Given the description of an element on the screen output the (x, y) to click on. 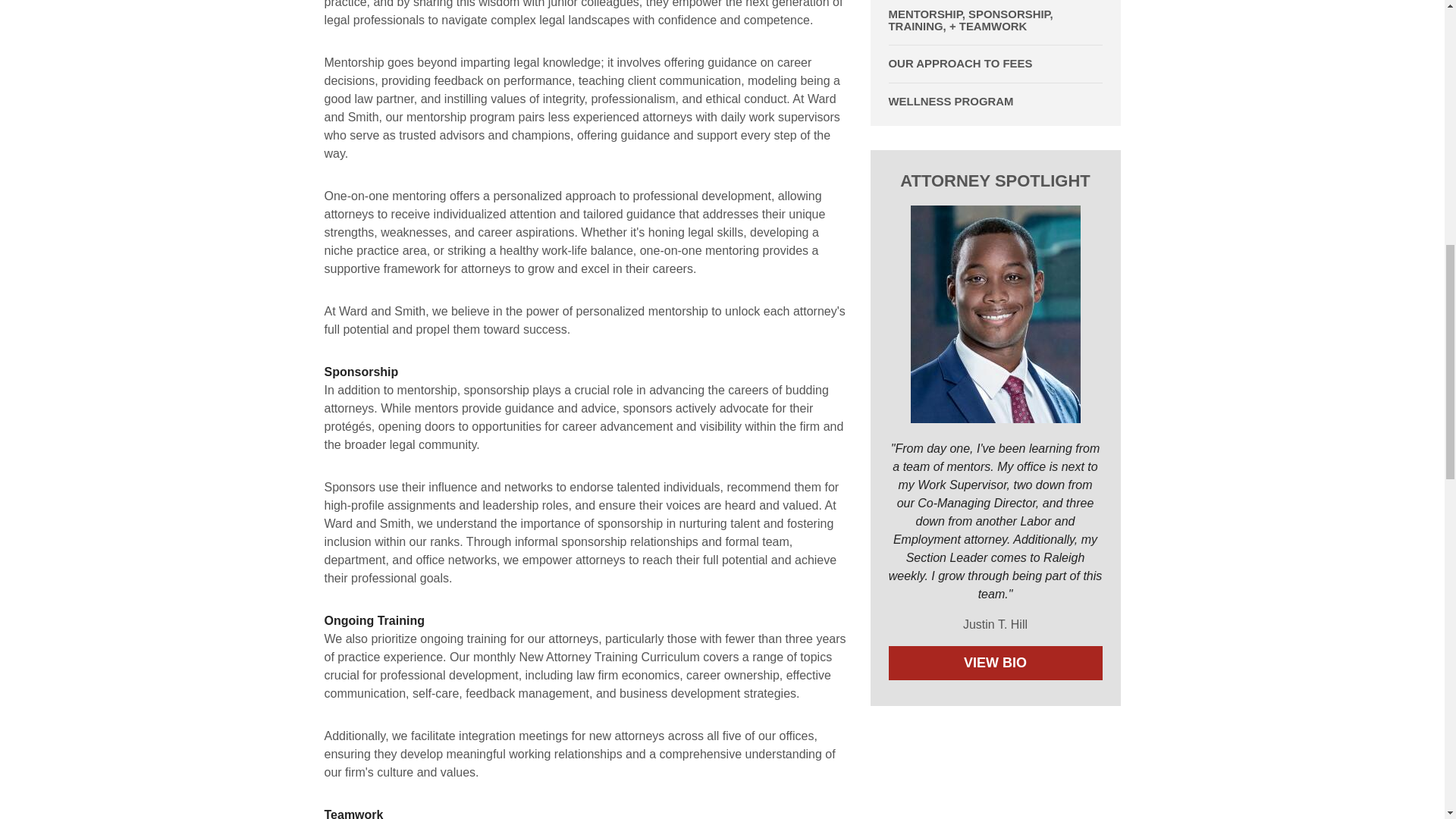
OUR APPROACH TO FEES (995, 63)
VIEW BIO (995, 663)
WELLNESS PROGRAM (995, 101)
